Given the description of an element on the screen output the (x, y) to click on. 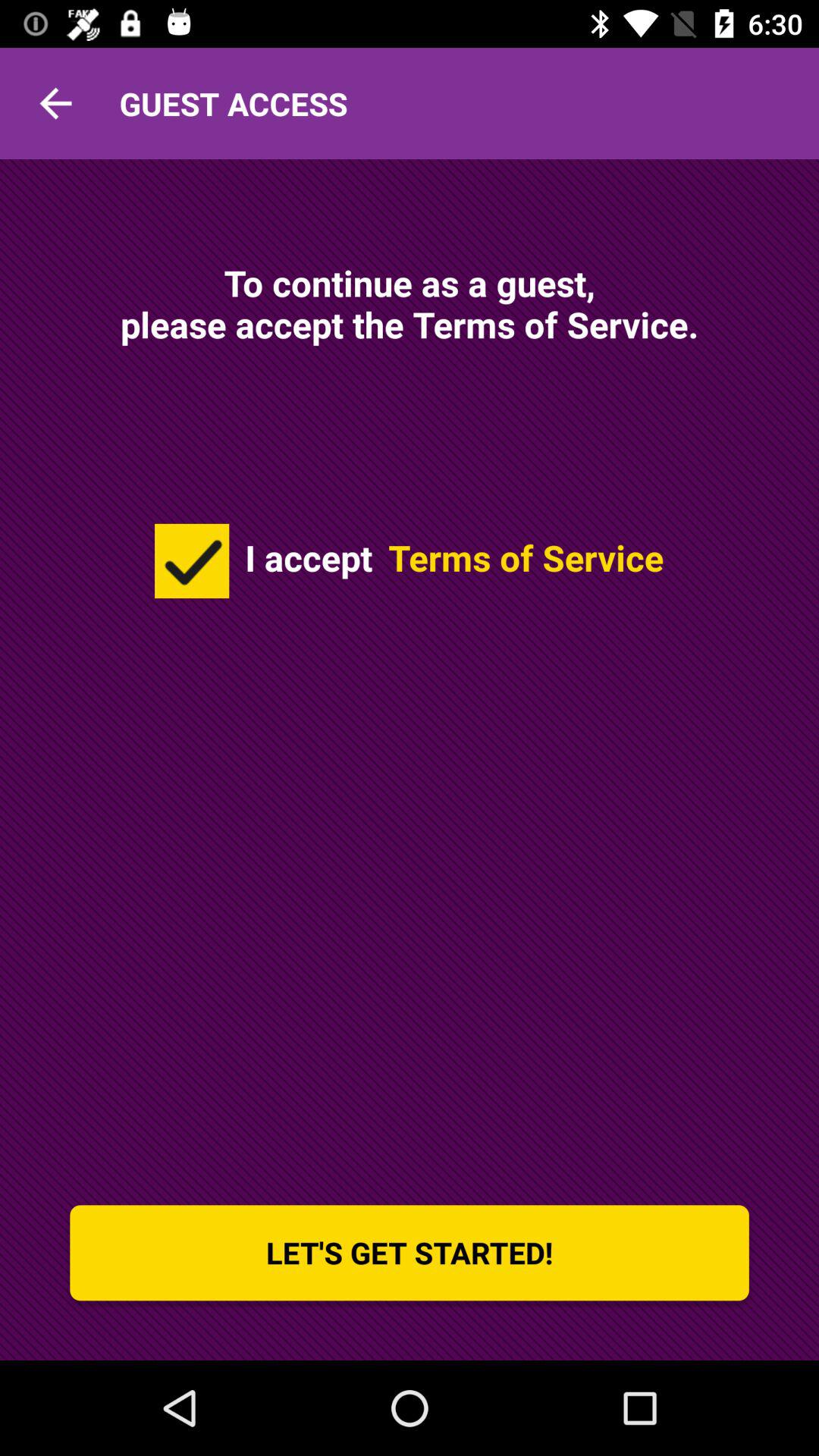
scroll to the let s get (409, 1252)
